Given the description of an element on the screen output the (x, y) to click on. 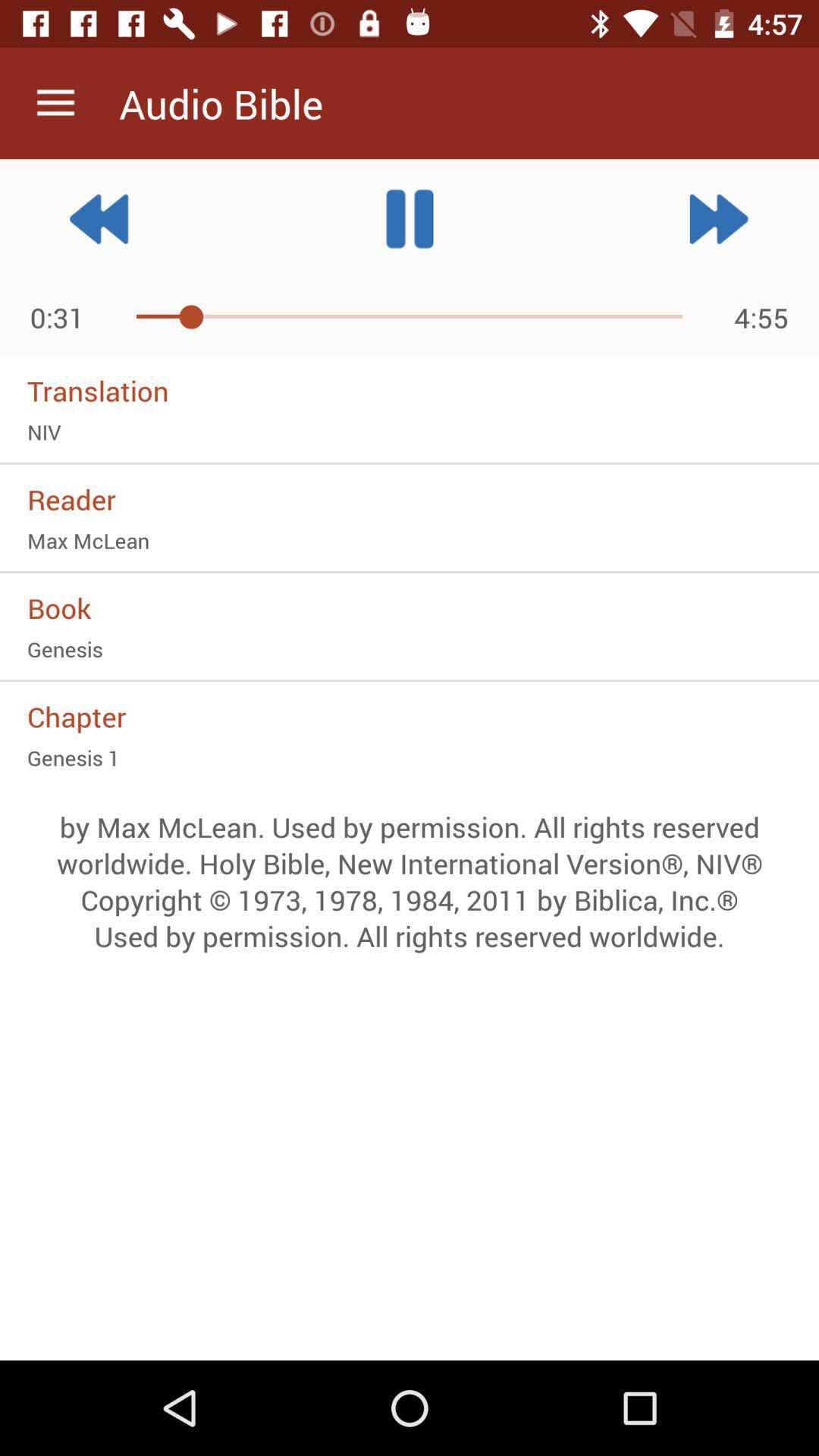
swipe until translation item (409, 390)
